Given the description of an element on the screen output the (x, y) to click on. 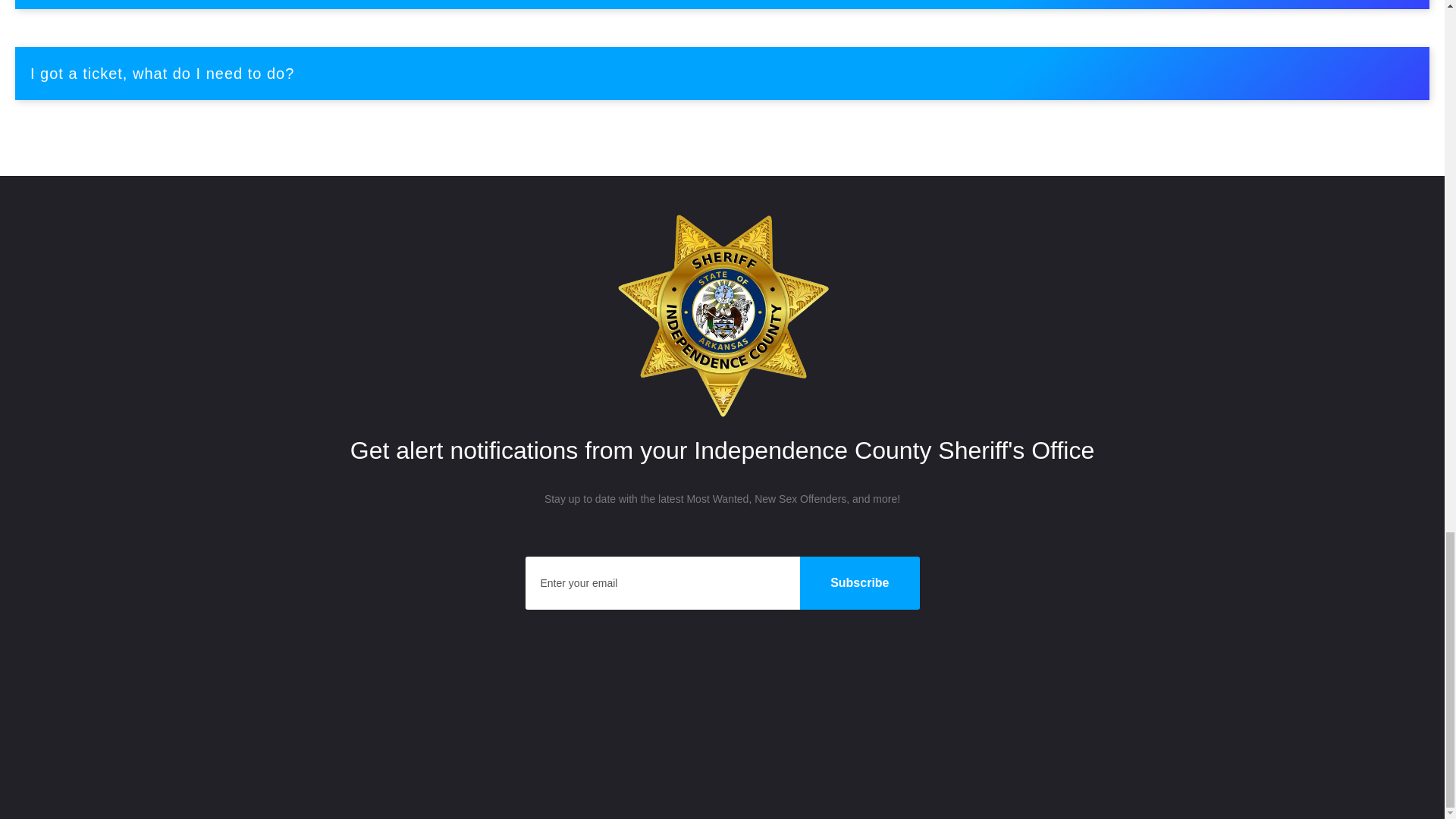
Subscribe (858, 582)
Subscribe (858, 582)
